Given the description of an element on the screen output the (x, y) to click on. 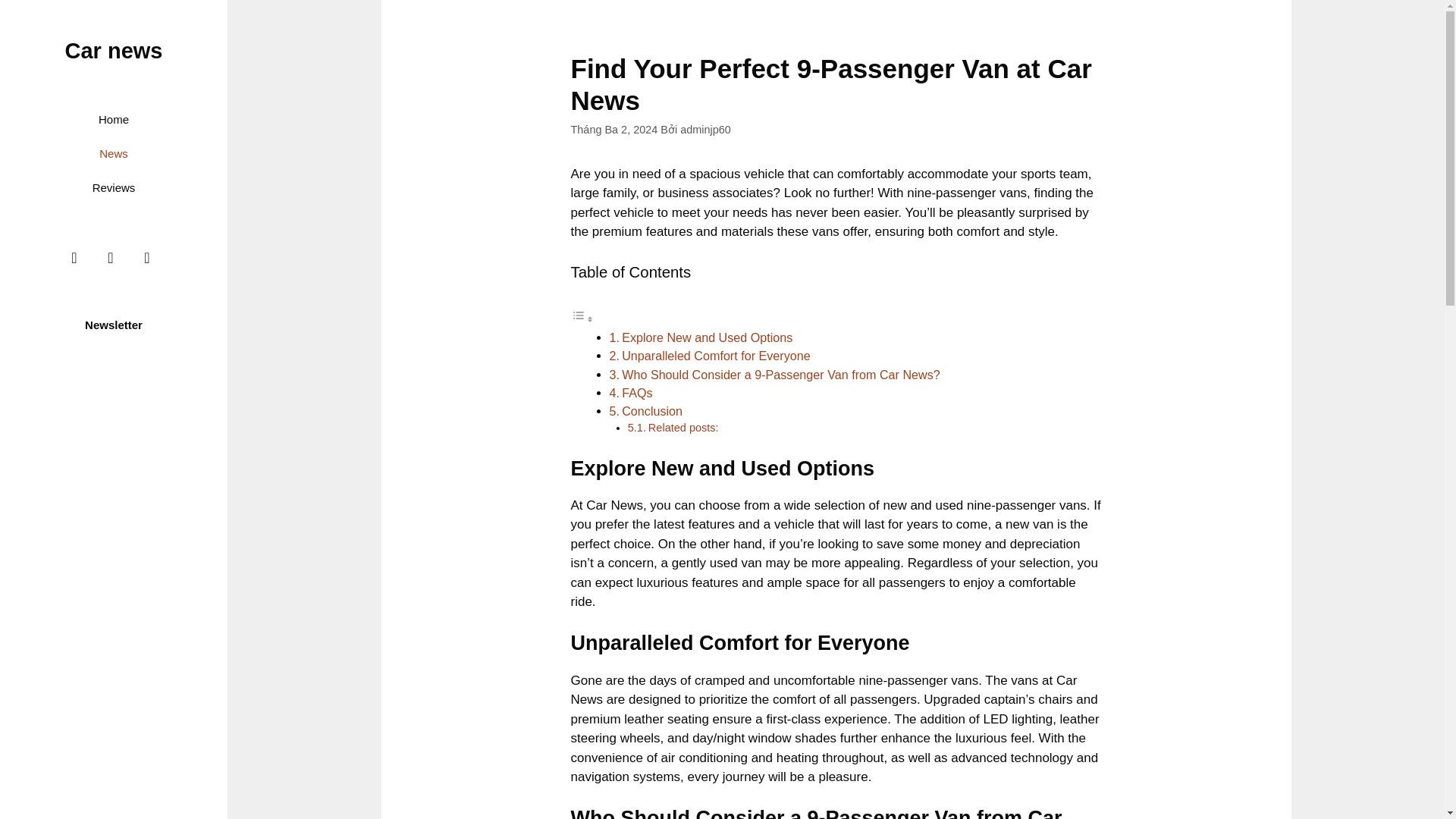
FAQs (636, 392)
Conclusion (651, 410)
Who Should Consider a 9-Passenger Van from Car News? (780, 374)
Unparalleled Comfort for Everyone (715, 355)
Related posts: (683, 427)
Explore New and Used Options (706, 336)
Reviews (114, 187)
Home (113, 119)
Conclusion (651, 410)
News (113, 153)
